Given the description of an element on the screen output the (x, y) to click on. 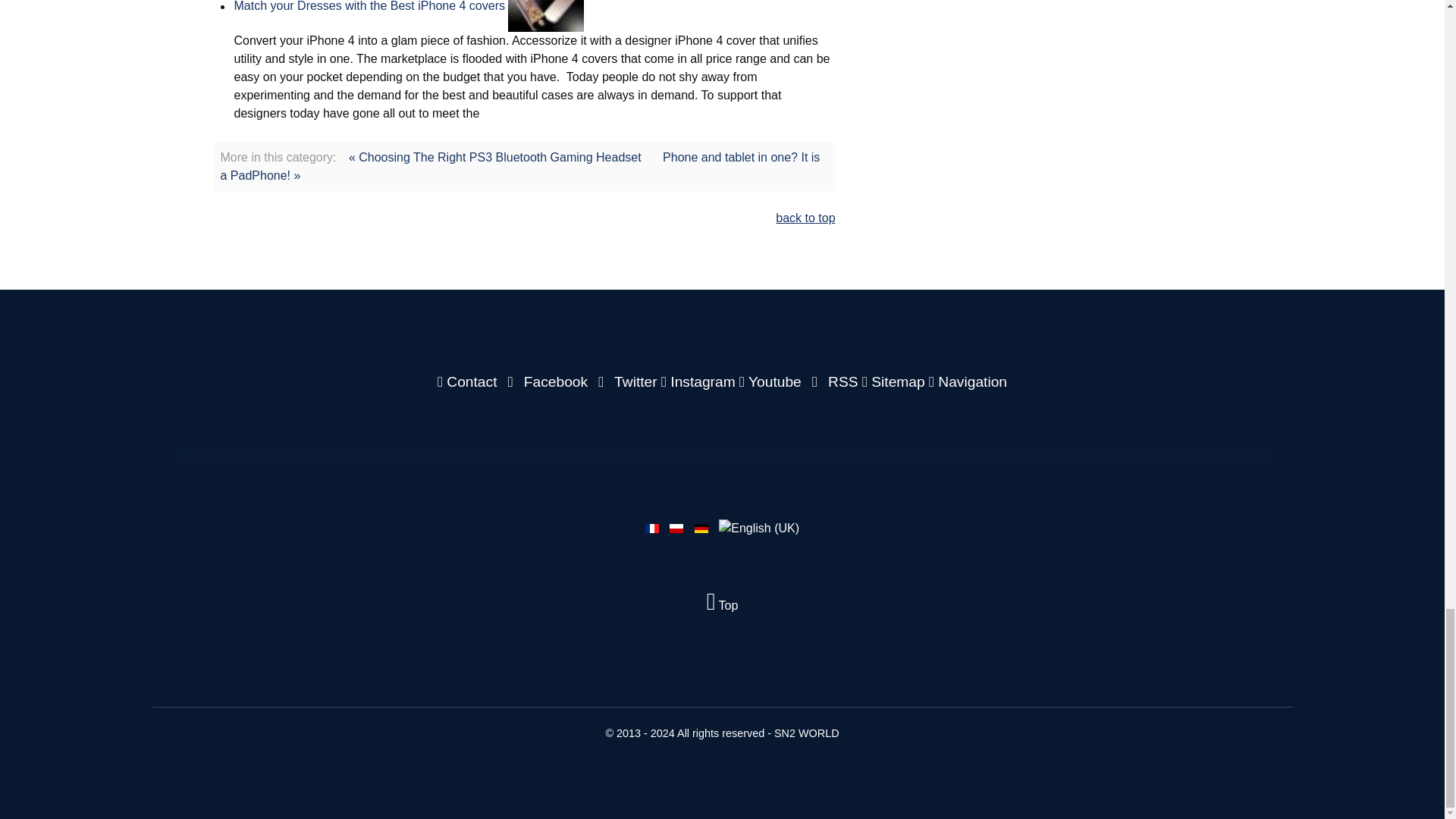
Facebook (546, 381)
RSS (833, 381)
back to top (805, 217)
Contact (469, 381)
Youtube (772, 381)
Instagram (700, 381)
Navigation (967, 381)
Sitemap (894, 381)
Twitter (626, 381)
Match your Dresses with the Best iPhone 4 covers (368, 6)
Polski (675, 528)
